Given the description of an element on the screen output the (x, y) to click on. 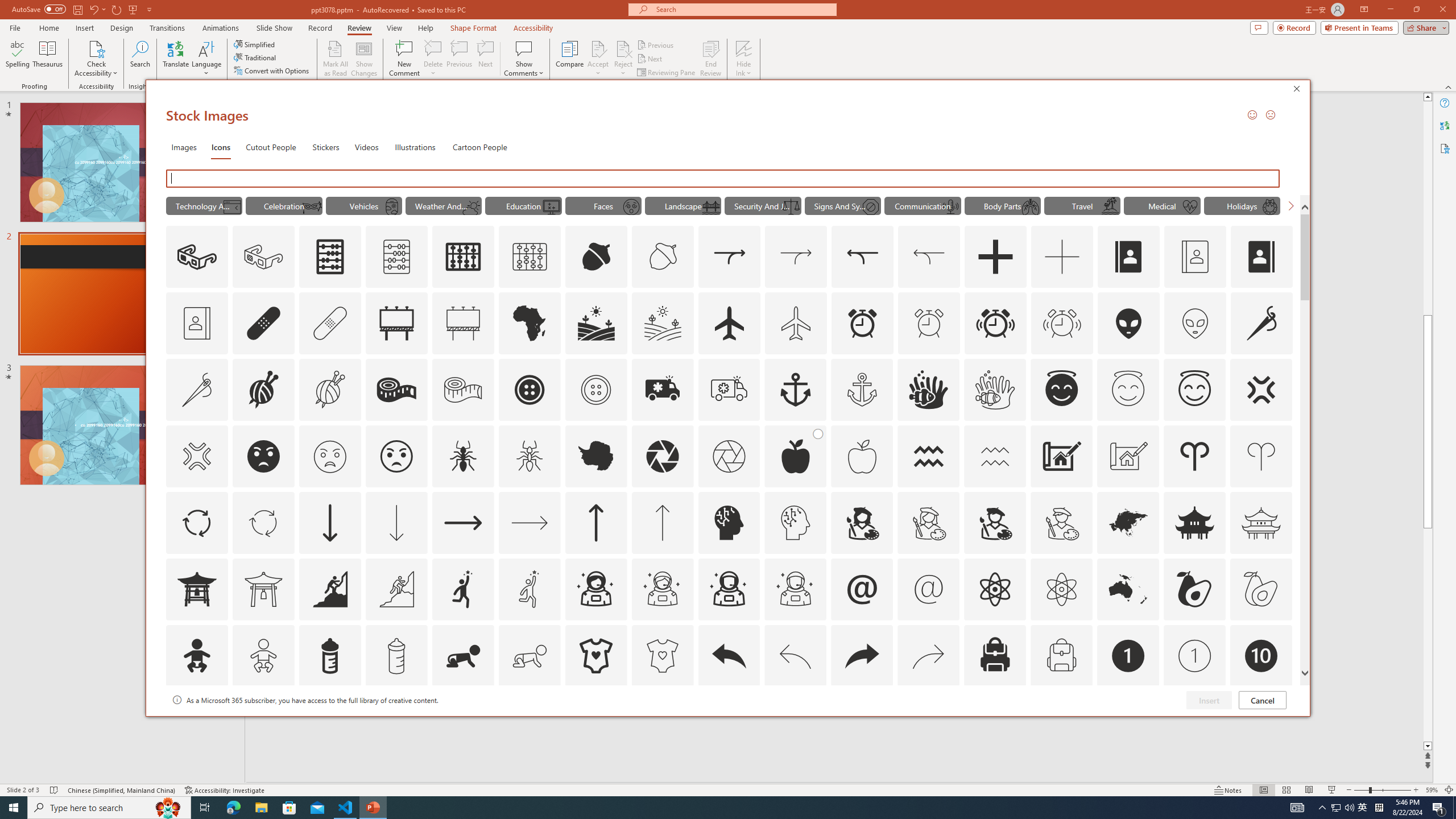
AutomationID: Icons_Avocado (1194, 588)
AutomationID: Icons_Badge7 (928, 721)
AutomationID: Icons_RemoteLearningMath_M (551, 206)
AutomationID: Icons_Aries_M (1260, 455)
AutomationID: Icons_Anchor (795, 389)
AutomationID: Icons_Badge3 (395, 721)
"Security And Justice" Icons. (762, 205)
AutomationID: Icons_Ant (462, 455)
